Given the description of an element on the screen output the (x, y) to click on. 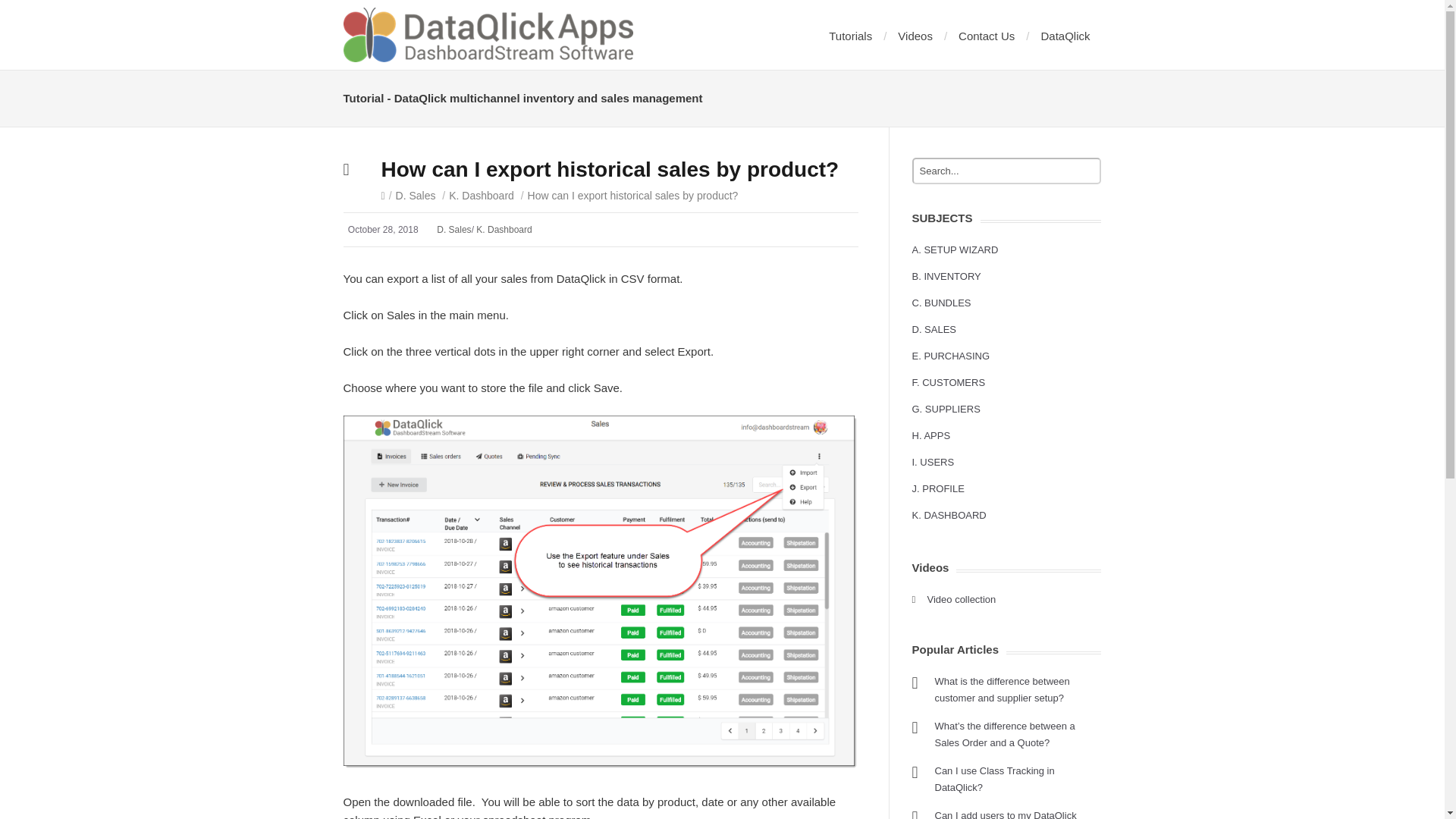
C. BUNDLES (941, 302)
E. PURCHASING (950, 355)
A. SETUP WIZARD (954, 249)
What is the difference between customer and supplier setup? (1001, 689)
K. Dashboard (503, 229)
DataQlick Tutorials (486, 34)
B. INVENTORY (945, 276)
Video collection (960, 599)
K. Dashboard (480, 195)
Back to Application (1065, 35)
F. CUSTOMERS (948, 382)
DataQlick (1065, 35)
G. SUPPLIERS (945, 408)
H. APPS (930, 435)
Tutorials (850, 35)
